Given the description of an element on the screen output the (x, y) to click on. 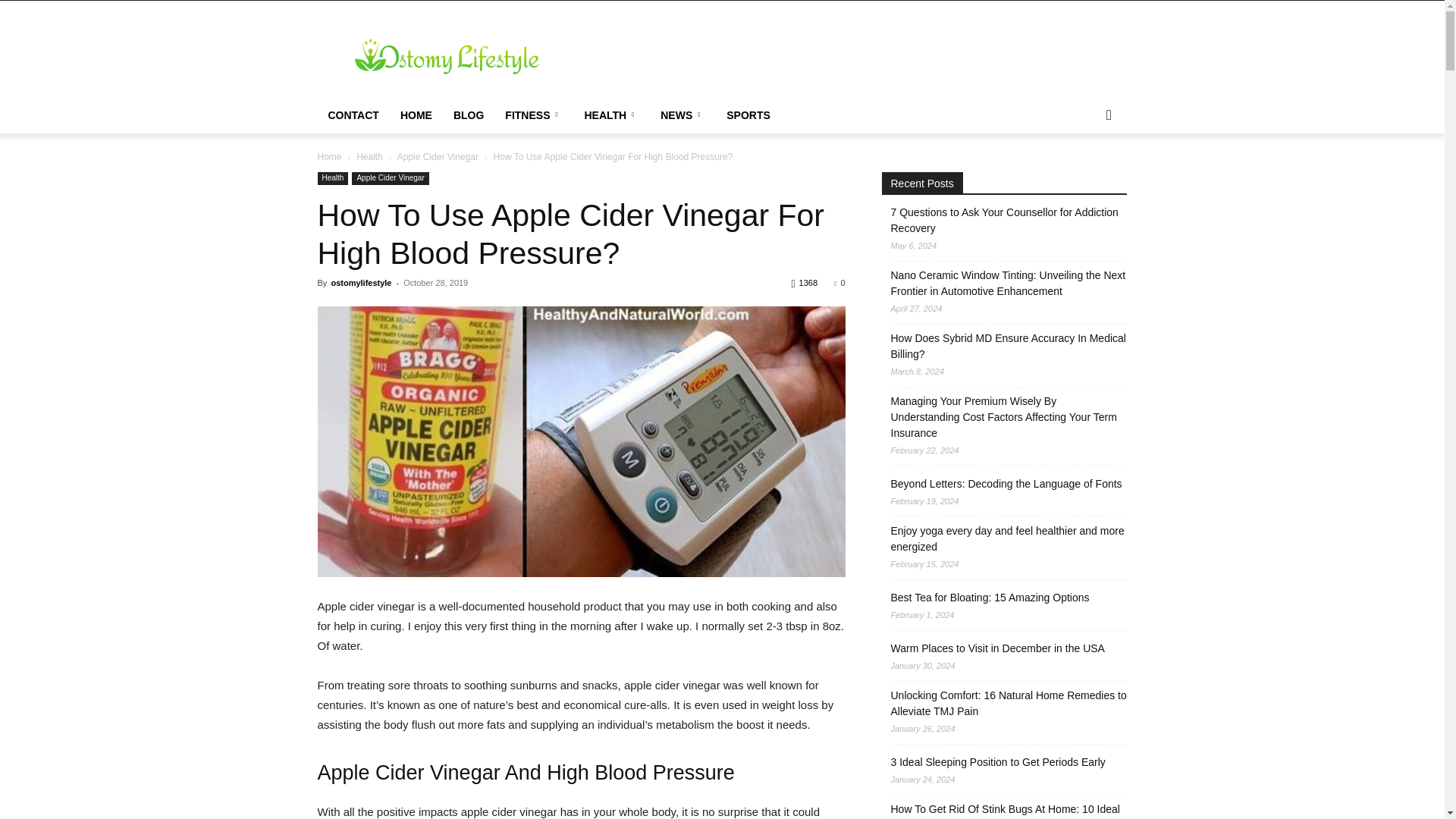
CONTACT (352, 115)
NEWS (682, 115)
Health (369, 156)
FITNESS (534, 115)
HEALTH (611, 115)
BLOG (468, 115)
HOME (416, 115)
SPORTS (748, 115)
View all posts in Apple Cider Vinegar (438, 156)
Apple Cider Vinegar (390, 178)
Apple Cider Vinegar (438, 156)
Health (332, 178)
Search (1085, 175)
Home (328, 156)
